Given the description of an element on the screen output the (x, y) to click on. 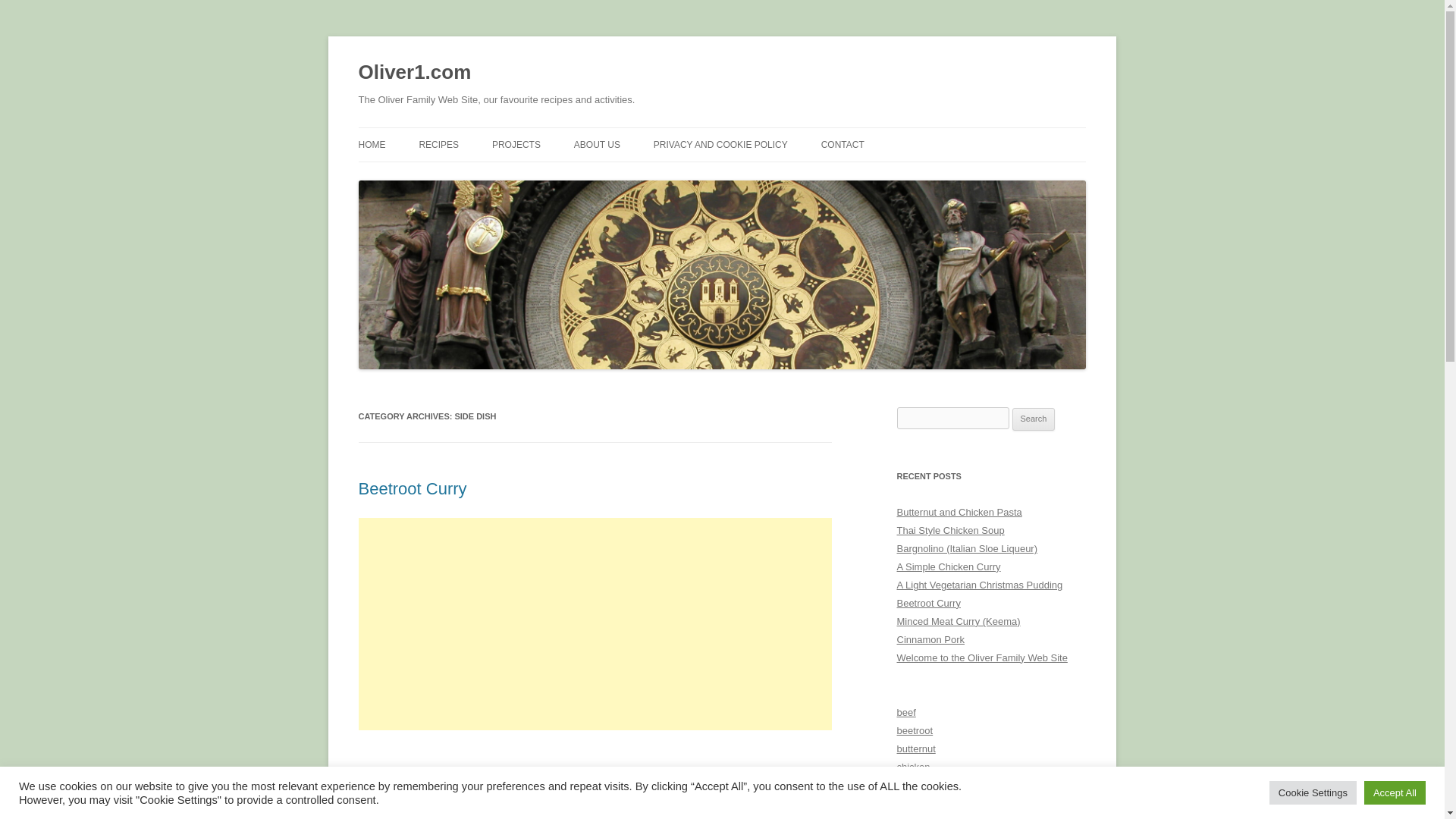
Thai Style Chicken Soup (950, 530)
HOME (371, 144)
PRIVACY AND COOKIE POLICY (720, 144)
RECIPES (438, 144)
THAI STYLE CHICKEN SOUP (494, 176)
Oliver1.com (414, 72)
MONITORING (567, 176)
Beetroot Curry (411, 488)
Search (1033, 418)
Butternut and Chicken Pasta (959, 511)
Search (1033, 418)
A Simple Chicken Curry (948, 566)
A Light Vegetarian Christmas Pudding (979, 584)
Advertisement (594, 783)
